Given the description of an element on the screen output the (x, y) to click on. 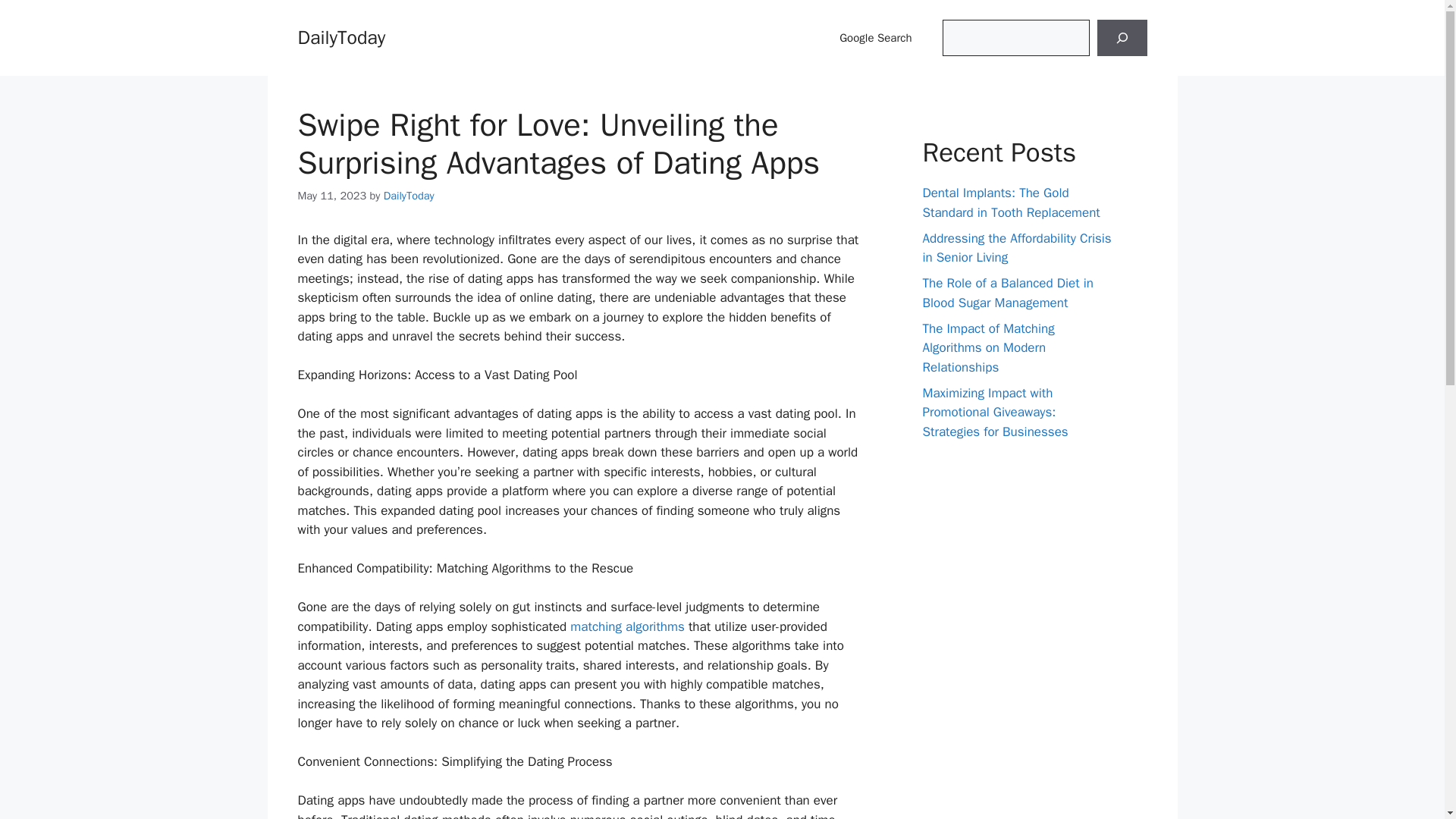
Dental Implants: The Gold Standard in Tooth Replacement (1010, 202)
Addressing the Affordability Crisis in Senior Living (1015, 248)
View all posts by DailyToday (408, 195)
DailyToday (341, 37)
matching algorithms (627, 626)
The Role of a Balanced Diet in Blood Sugar Management (1007, 293)
Google Search (875, 37)
DailyToday (408, 195)
The Impact of Matching Algorithms on Modern Relationships (987, 347)
